Given the description of an element on the screen output the (x, y) to click on. 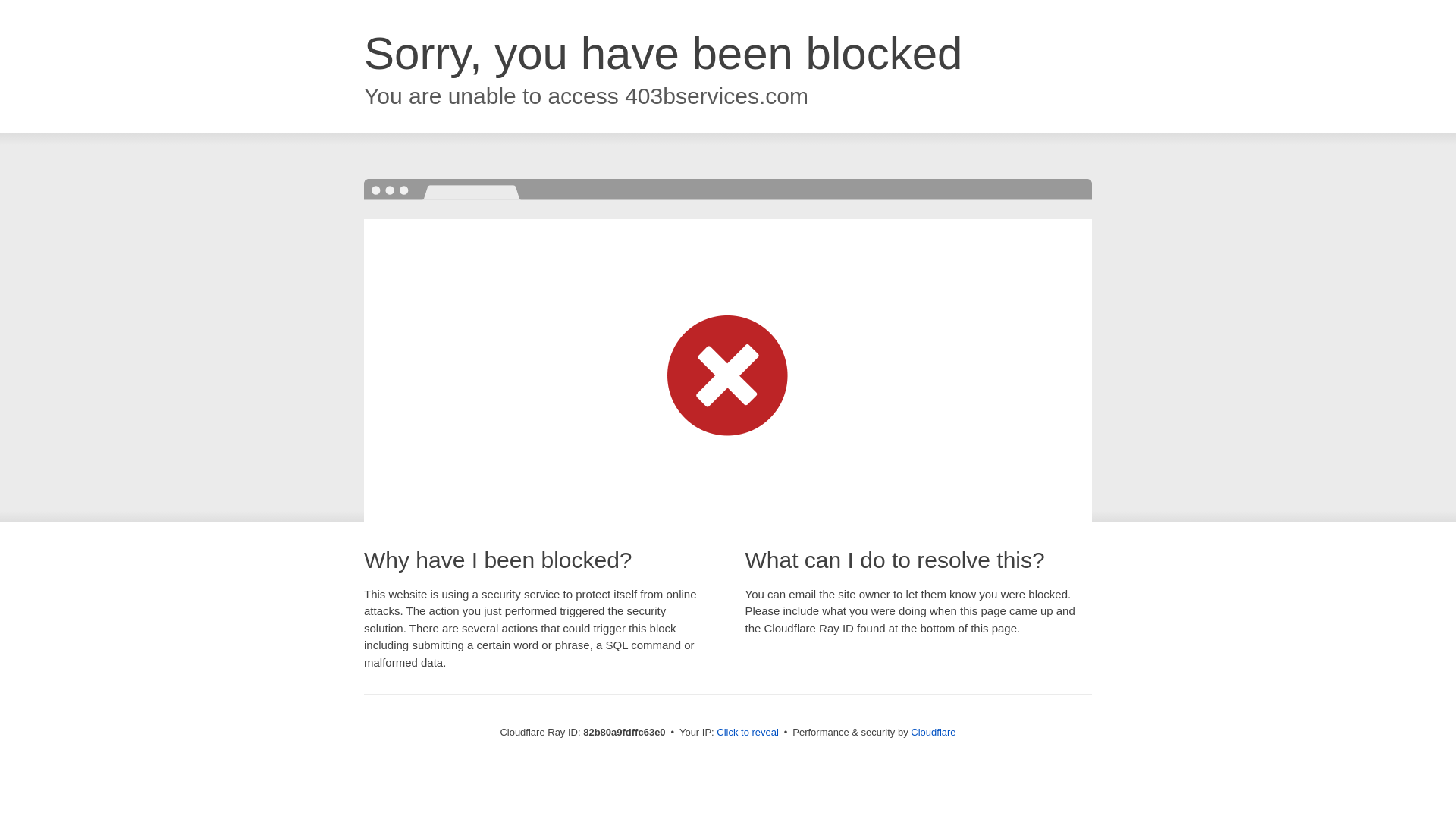
Cloudflare Element type: text (932, 731)
Click to reveal Element type: text (747, 732)
